Given the description of an element on the screen output the (x, y) to click on. 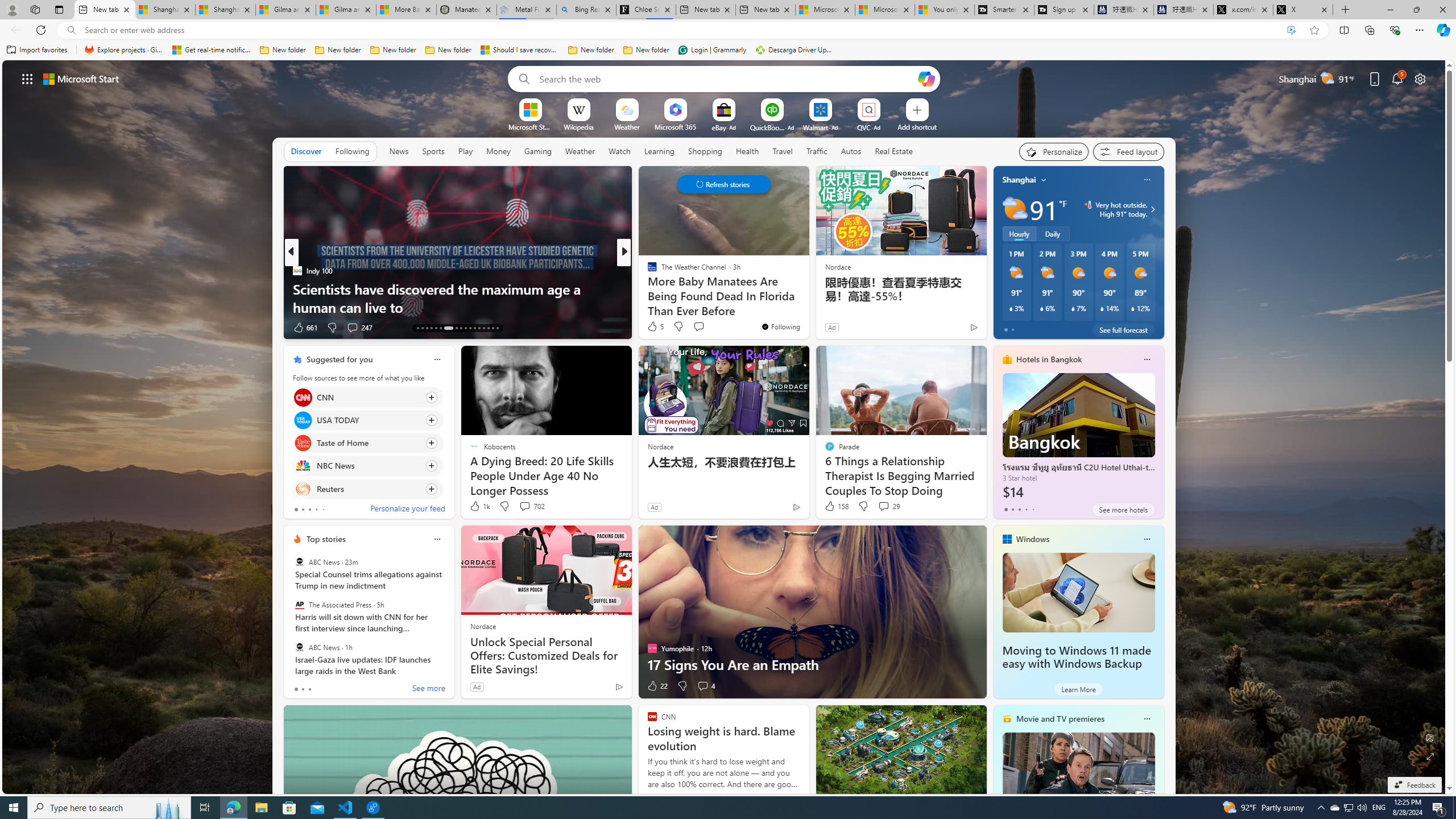
Class: control (723, 184)
Top 10 Worst Things To Do When Camping (807, 307)
9 Like (651, 327)
CNN (302, 397)
Click to follow source USA TODAY (367, 419)
AutomationID: tab-24 (474, 328)
View comments 25 Comment (704, 327)
View comments 5 Comment (703, 327)
Play (465, 151)
next (1158, 252)
